Given the description of an element on the screen output the (x, y) to click on. 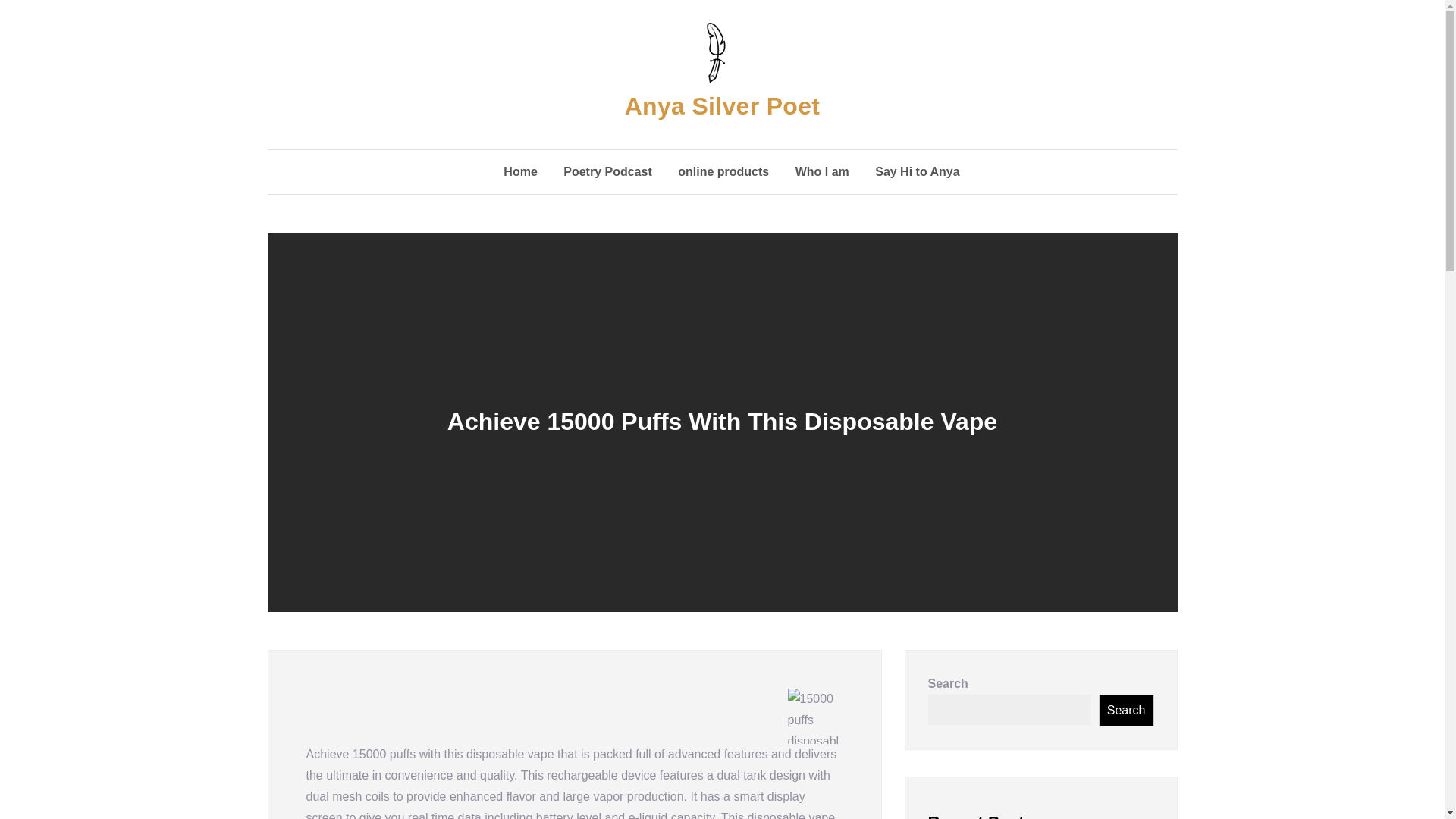
online products (723, 171)
Poetry Podcast (606, 171)
Who I am (822, 171)
Home (520, 171)
Say Hi to Anya (917, 171)
Search (1126, 710)
Anya Silver Poet (722, 105)
